Given the description of an element on the screen output the (x, y) to click on. 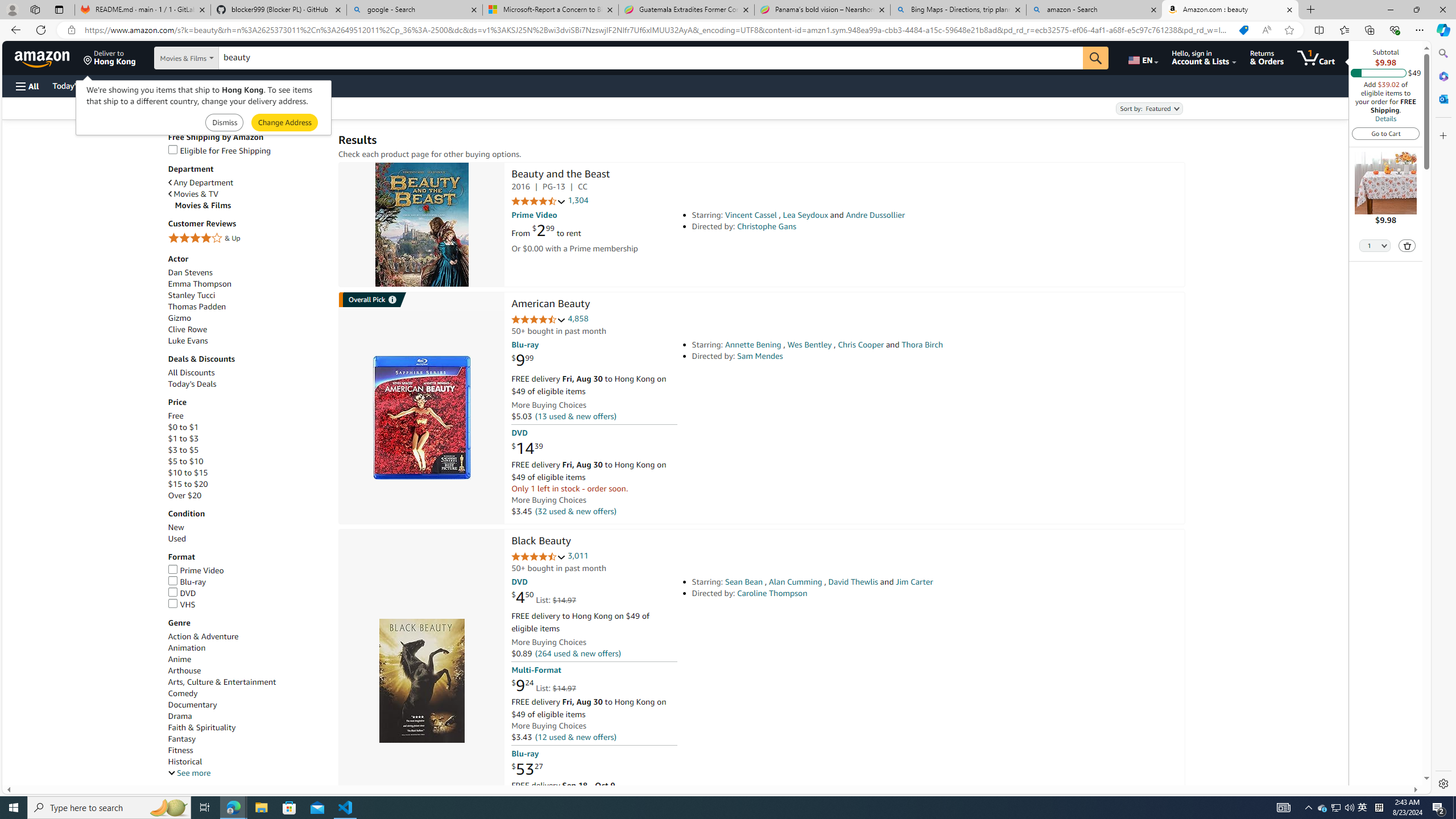
Anime (179, 659)
Andre Dussollier (874, 214)
Fantasy (181, 738)
Documentary (191, 704)
$3 to $5 (183, 449)
Go to Cart (1385, 133)
Gizmo (247, 317)
Delete (1407, 245)
Skip to main content (48, 56)
Submit (284, 122)
Christophe Gans (766, 226)
